Given the description of an element on the screen output the (x, y) to click on. 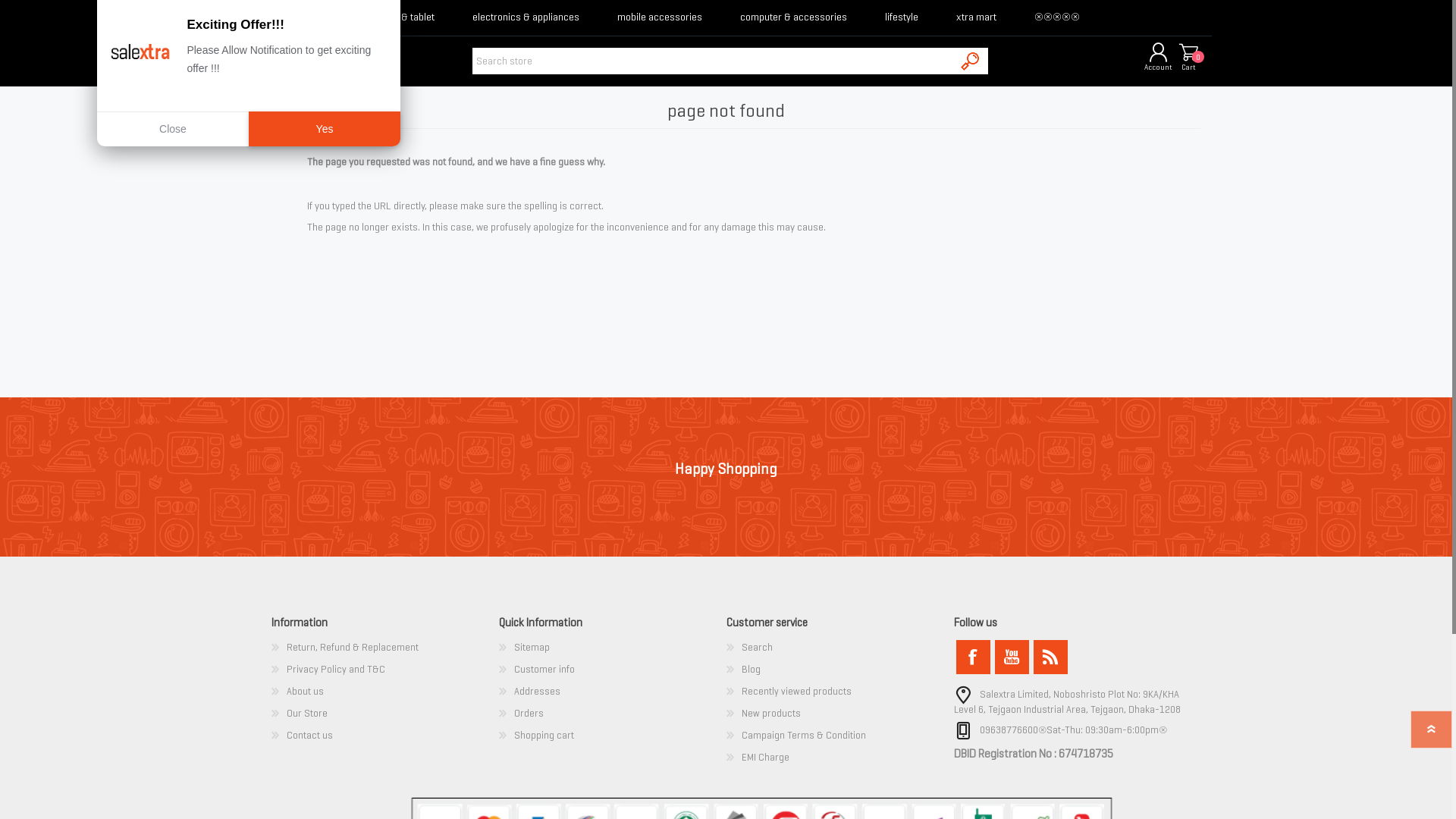
mobile accessories Element type: text (659, 17)
Addresses Element type: text (537, 690)
lifestyle Element type: text (901, 17)
xtra mart Element type: text (976, 17)
Customer info Element type: text (544, 668)
About us Element type: text (304, 690)
EMI Charge Element type: text (765, 756)
Recently viewed products Element type: text (796, 690)
Privacy Policy and T&C Element type: text (335, 668)
electronics & appliances Element type: text (525, 17)
Search Element type: text (970, 60)
Contact us Element type: text (309, 734)
Search Element type: text (756, 646)
Orders Element type: text (528, 712)
phone & tablet Element type: text (403, 17)
Shopping cart Element type: text (544, 734)
Campaign Terms & Condition Element type: text (803, 734)
Shopping cart Element type: text (1188, 52)
Blog Element type: text (750, 668)
Close Element type: text (172, 128)
Yes Element type: text (324, 128)
Return, Refund & Replacement Element type: text (352, 646)
computer & accessories Element type: text (793, 17)
Sitemap Element type: text (531, 646)
Our Store Element type: text (306, 712)
New products Element type: text (770, 712)
